Given the description of an element on the screen output the (x, y) to click on. 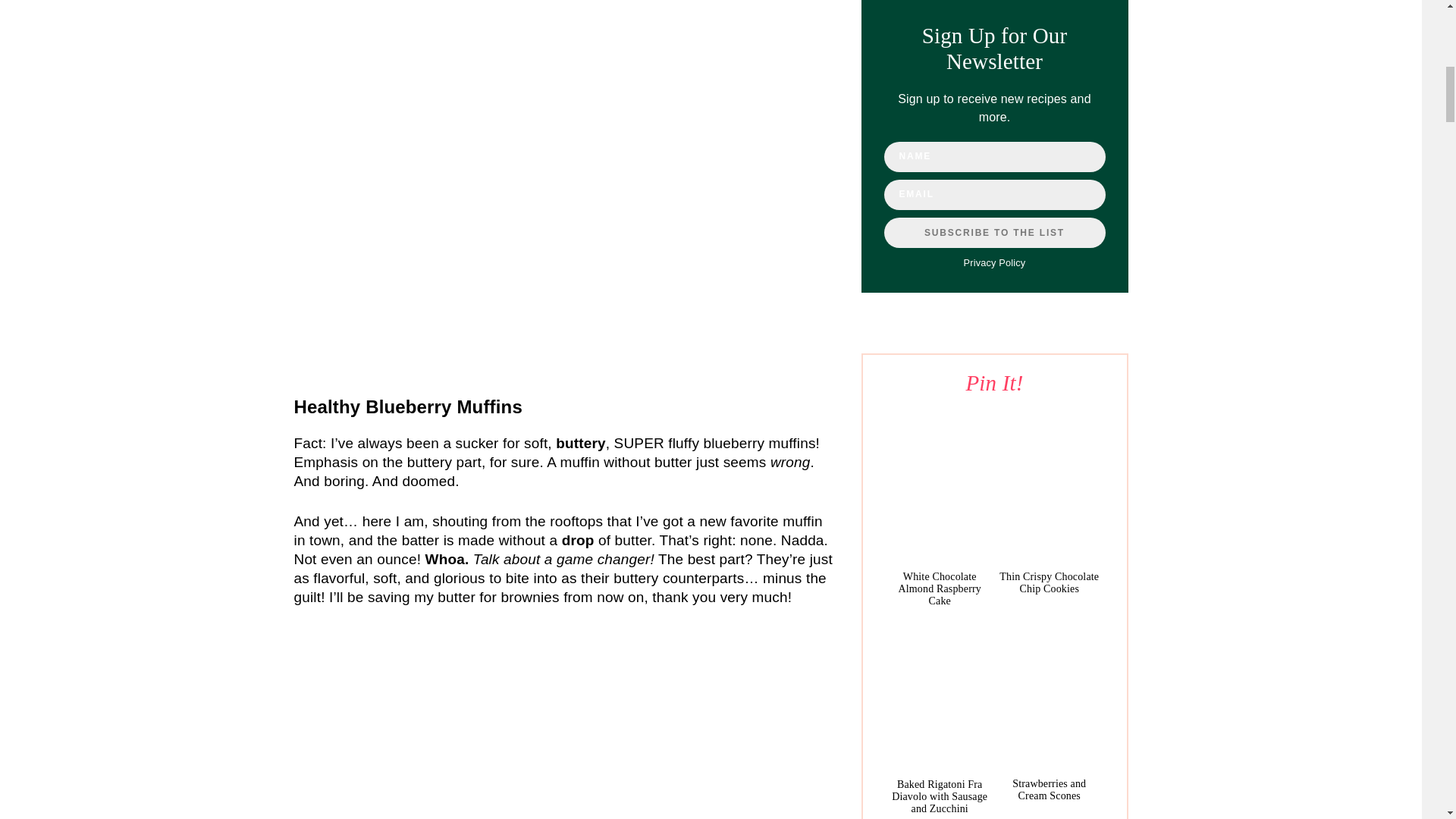
White Chocolate Almond Raspberry Cake (939, 588)
Thin Crispy Chocolate Chip Cookies (1048, 487)
Baked Rigatoni Fra Diavolo with Sausage and Zucchini (939, 796)
White Chocolate Almond Raspberry Cake (939, 487)
Baked Rigatoni Fra Diavolo with Sausage and Zucchini (939, 695)
Subscribe to the List (994, 232)
Thin Crispy Chocolate Chip Cookies (1048, 582)
